Given the description of an element on the screen output the (x, y) to click on. 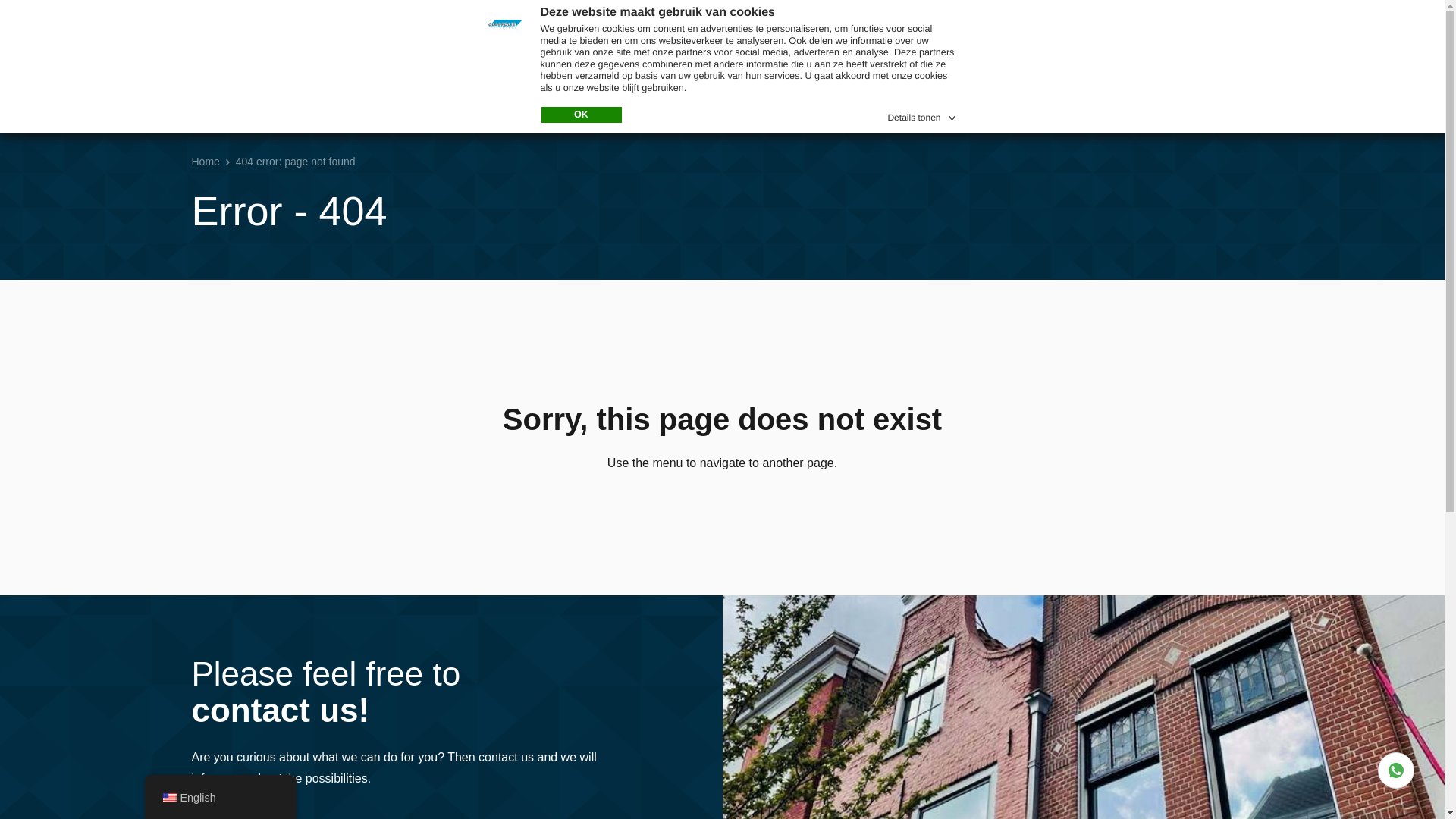
OK (581, 115)
Details tonen (922, 115)
